Given the description of an element on the screen output the (x, y) to click on. 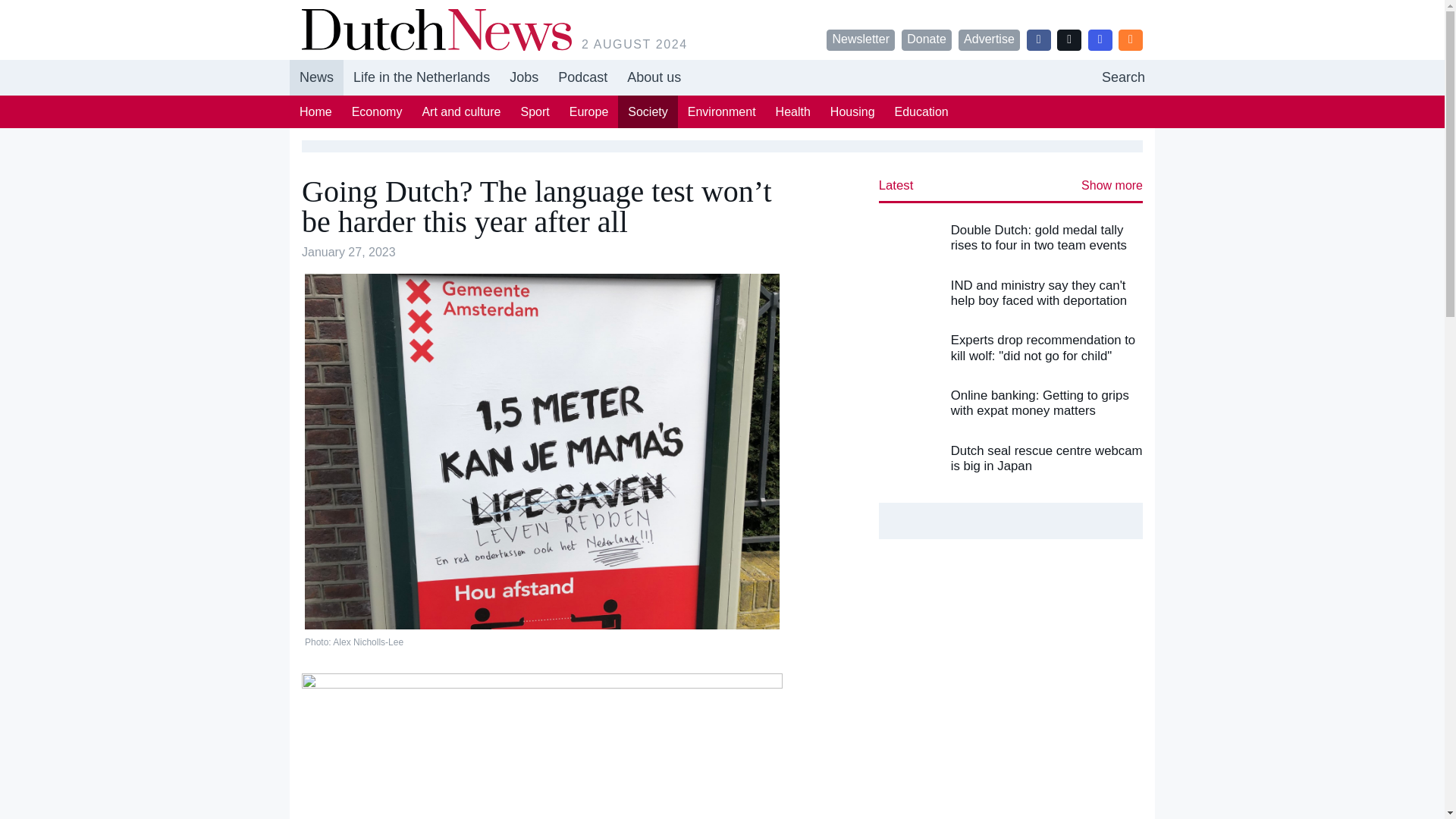
hidden-in-footer (1123, 77)
Education (921, 111)
About us (653, 77)
Newsletter (861, 39)
Jobs (721, 77)
Search (523, 77)
Society (1123, 77)
hidden-in-footer (647, 111)
Advertise (523, 77)
Europe (989, 39)
Housing (588, 111)
hidden-in-footer (853, 111)
Podcast (582, 77)
